Given the description of an element on the screen output the (x, y) to click on. 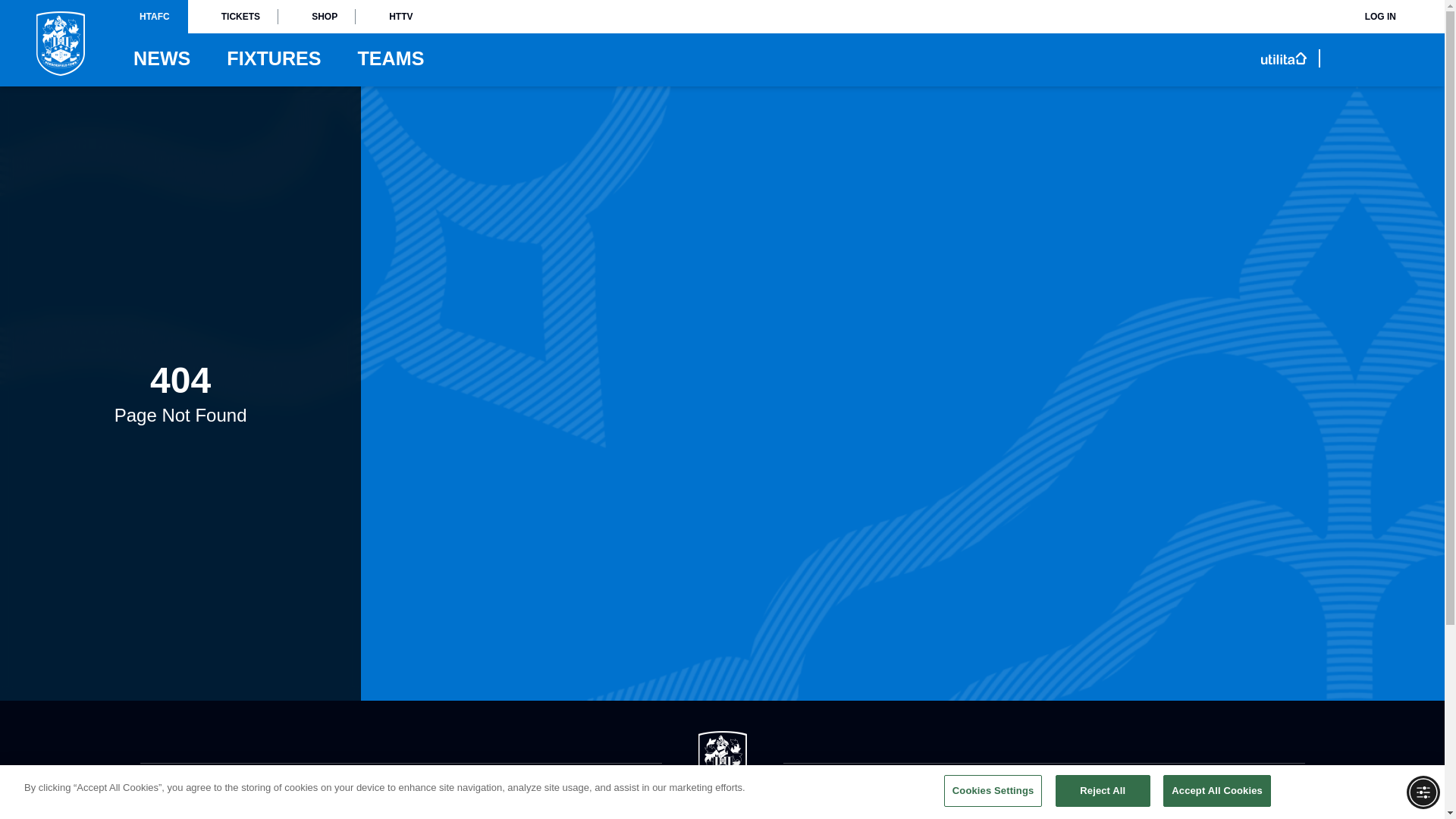
SHOP (316, 16)
TEAMS (391, 58)
NEWS (161, 58)
FIXTURES (273, 58)
Accept All Cookies (1217, 790)
HTTV (392, 16)
TICKETS (232, 16)
Reject All (1102, 790)
Cookies Settings (992, 790)
HTAFC (153, 16)
Accessibility Menu (1422, 792)
